Given the description of an element on the screen output the (x, y) to click on. 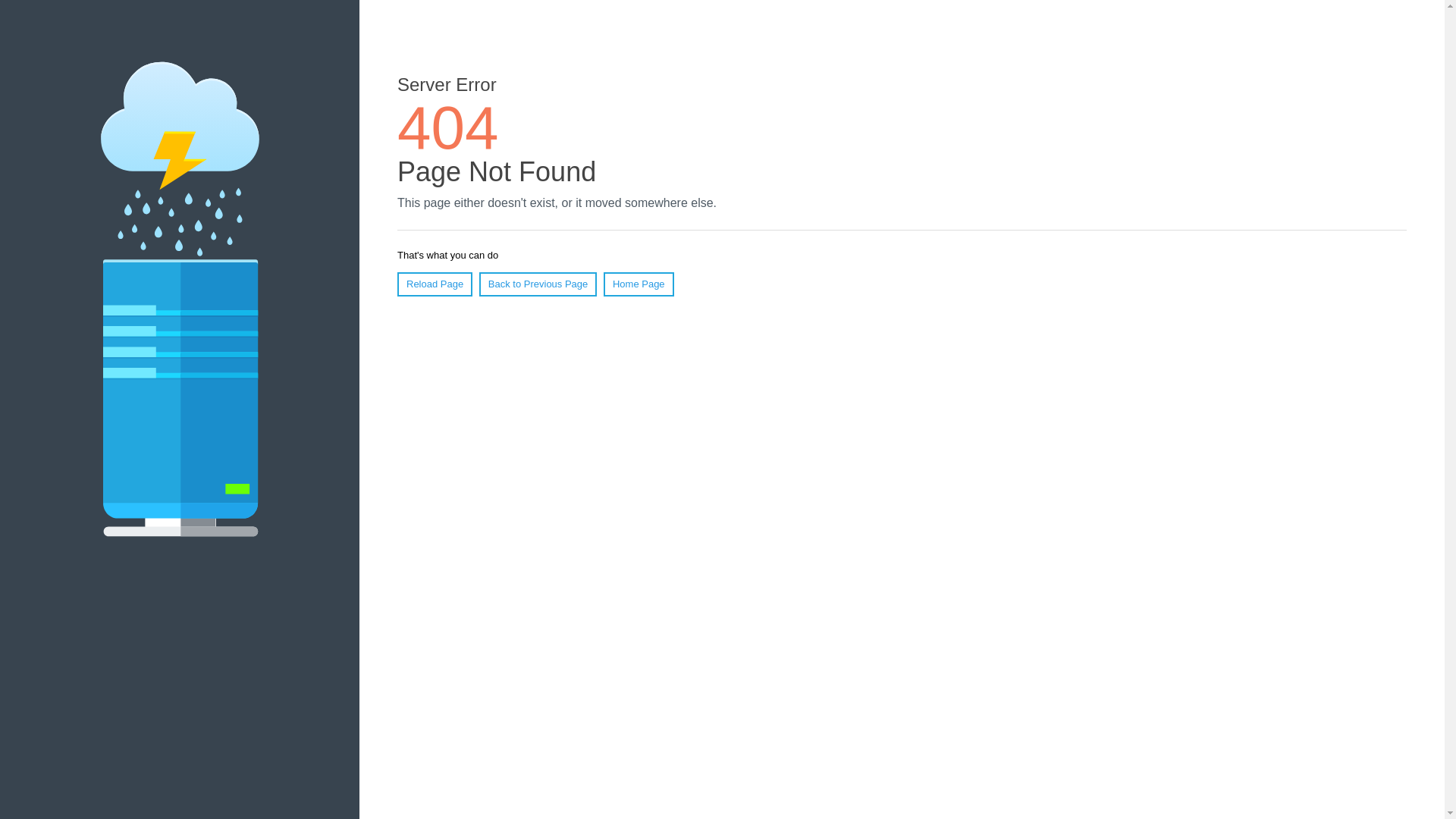
Back to Previous Page Element type: text (538, 284)
Reload Page Element type: text (434, 284)
Home Page Element type: text (638, 284)
